Given the description of an element on the screen output the (x, y) to click on. 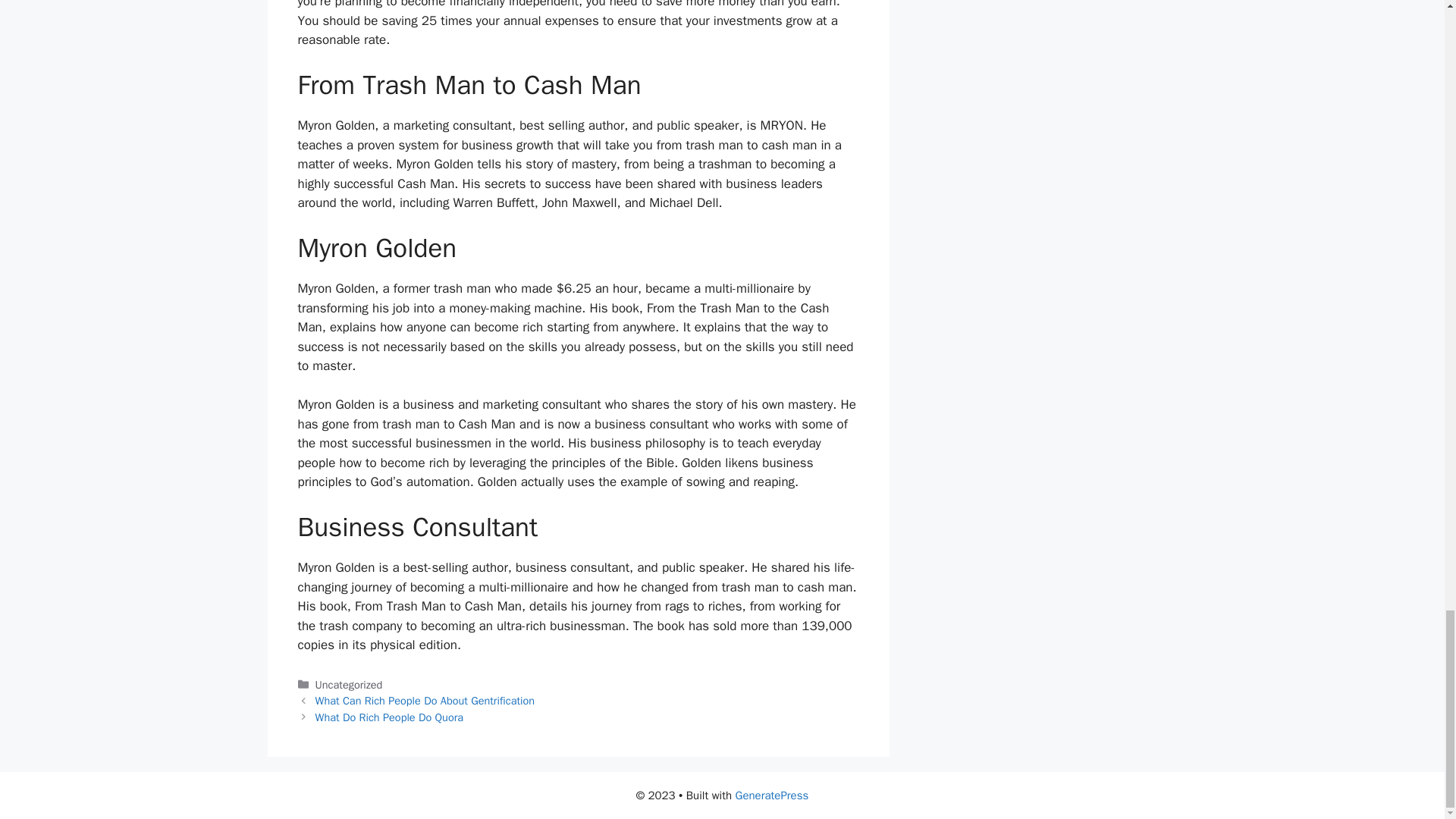
What Can Rich People Do About Gentrification (424, 700)
What Do Rich People Do Quora (389, 716)
GeneratePress (772, 795)
